Given the description of an element on the screen output the (x, y) to click on. 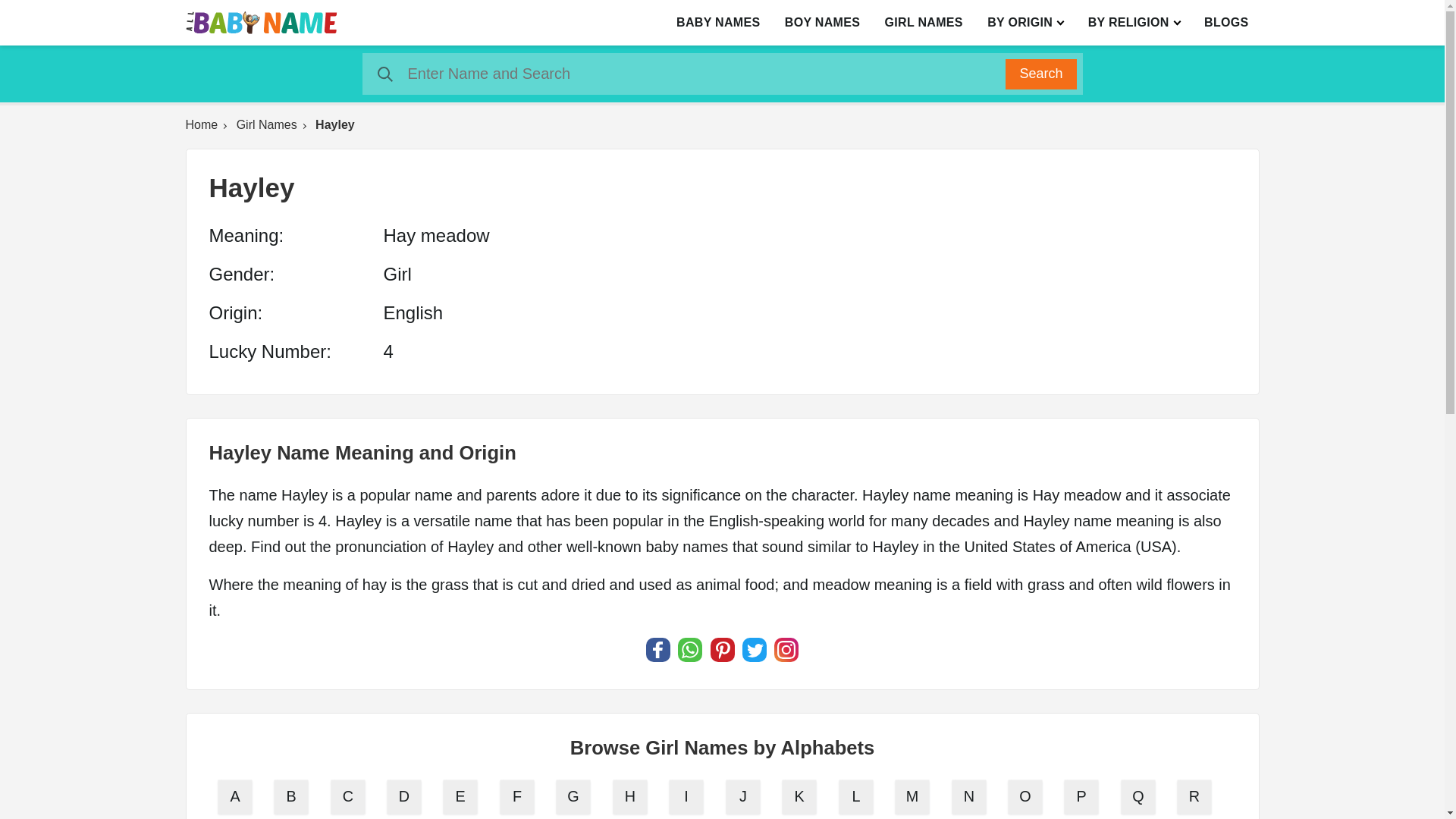
BOY NAMES (822, 22)
F (518, 798)
C (349, 798)
E (462, 798)
BABY NAMES (717, 22)
J (743, 798)
Home (208, 124)
BY RELIGION (1134, 22)
BLOGS (1226, 22)
BY ORIGIN (1025, 22)
